Given the description of an element on the screen output the (x, y) to click on. 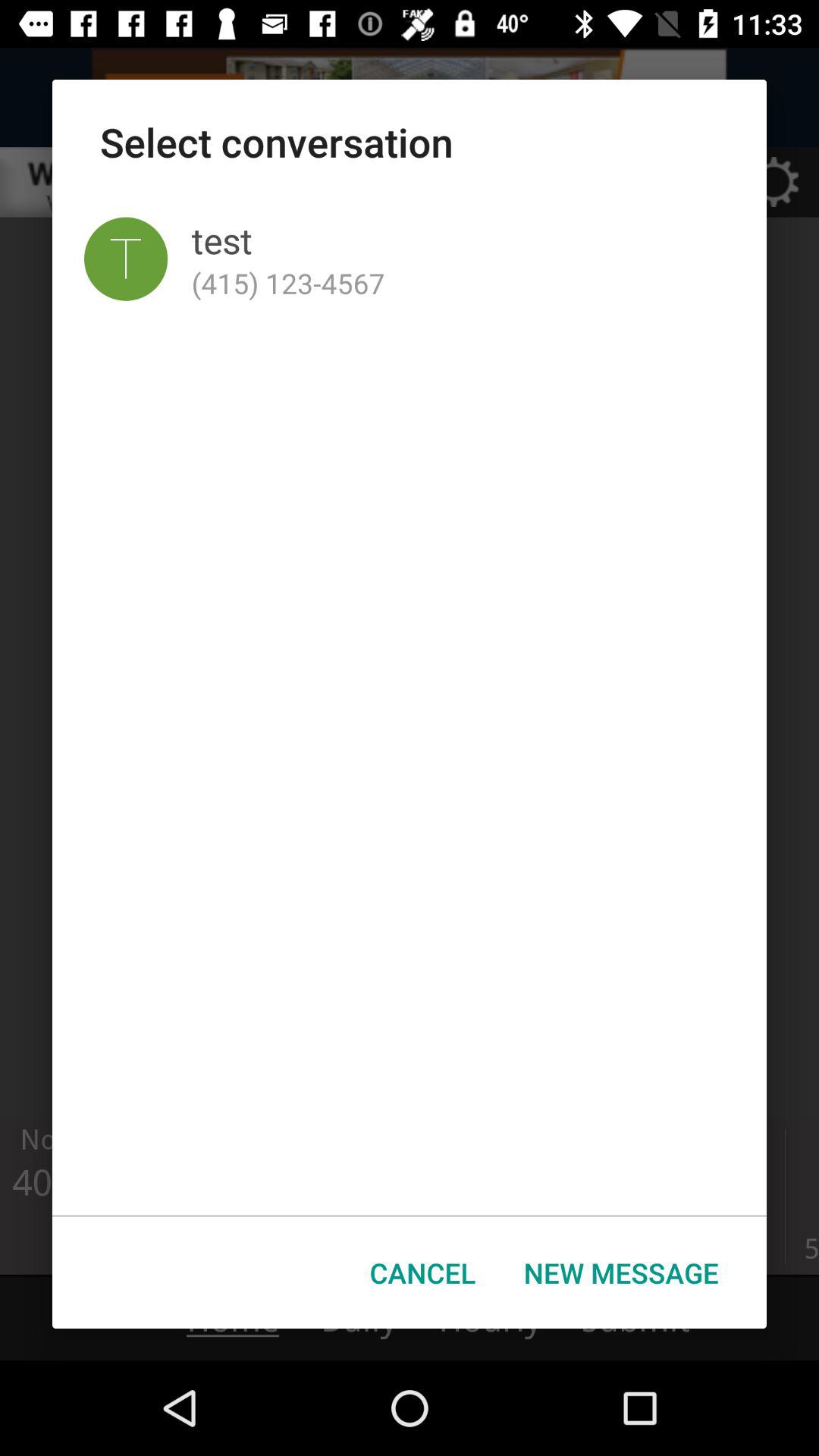
turn off button next to the new message (422, 1272)
